Given the description of an element on the screen output the (x, y) to click on. 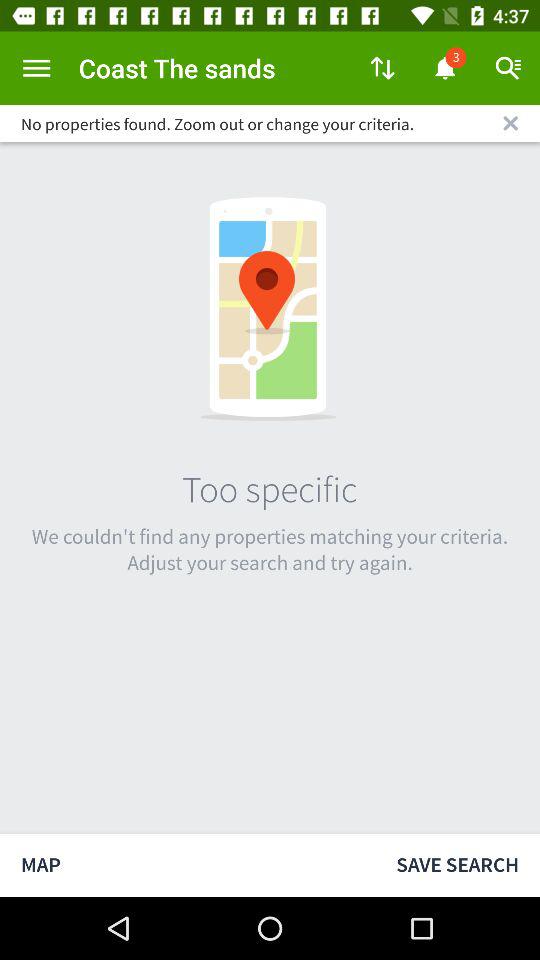
press item next to save search icon (187, 864)
